Given the description of an element on the screen output the (x, y) to click on. 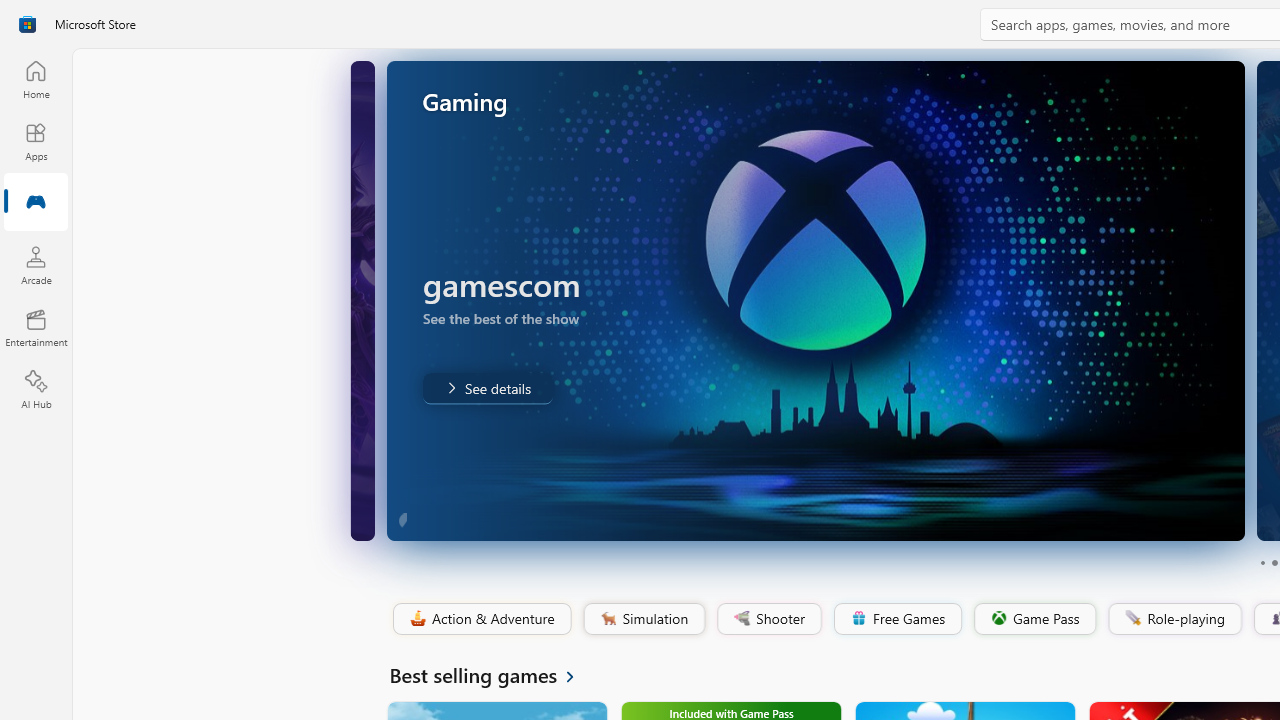
AI Hub (35, 390)
Free Games (897, 619)
Gaming (35, 203)
Game Pass (1033, 619)
Entertainment (35, 327)
Action & Adventure (480, 619)
Class: Image (1132, 617)
Shooter (767, 619)
Apps (35, 141)
Arcade (35, 265)
Role-playing (1174, 619)
Home (35, 79)
Page 1 (1261, 562)
See all  Best selling games (493, 674)
Page 2 (1274, 562)
